Given the description of an element on the screen output the (x, y) to click on. 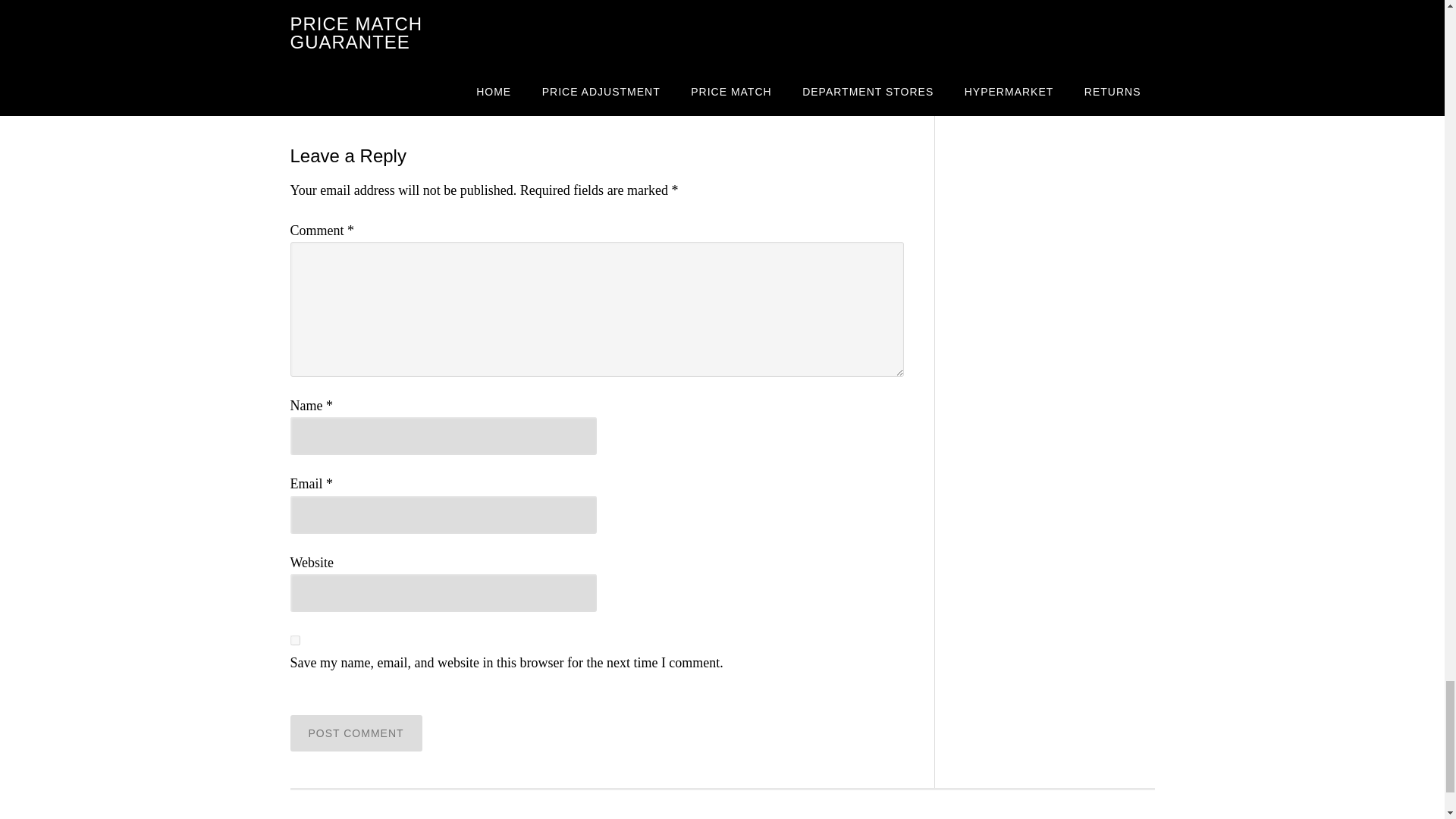
Post Comment (355, 732)
yes (294, 640)
Post Comment (355, 732)
